Given the description of an element on the screen output the (x, y) to click on. 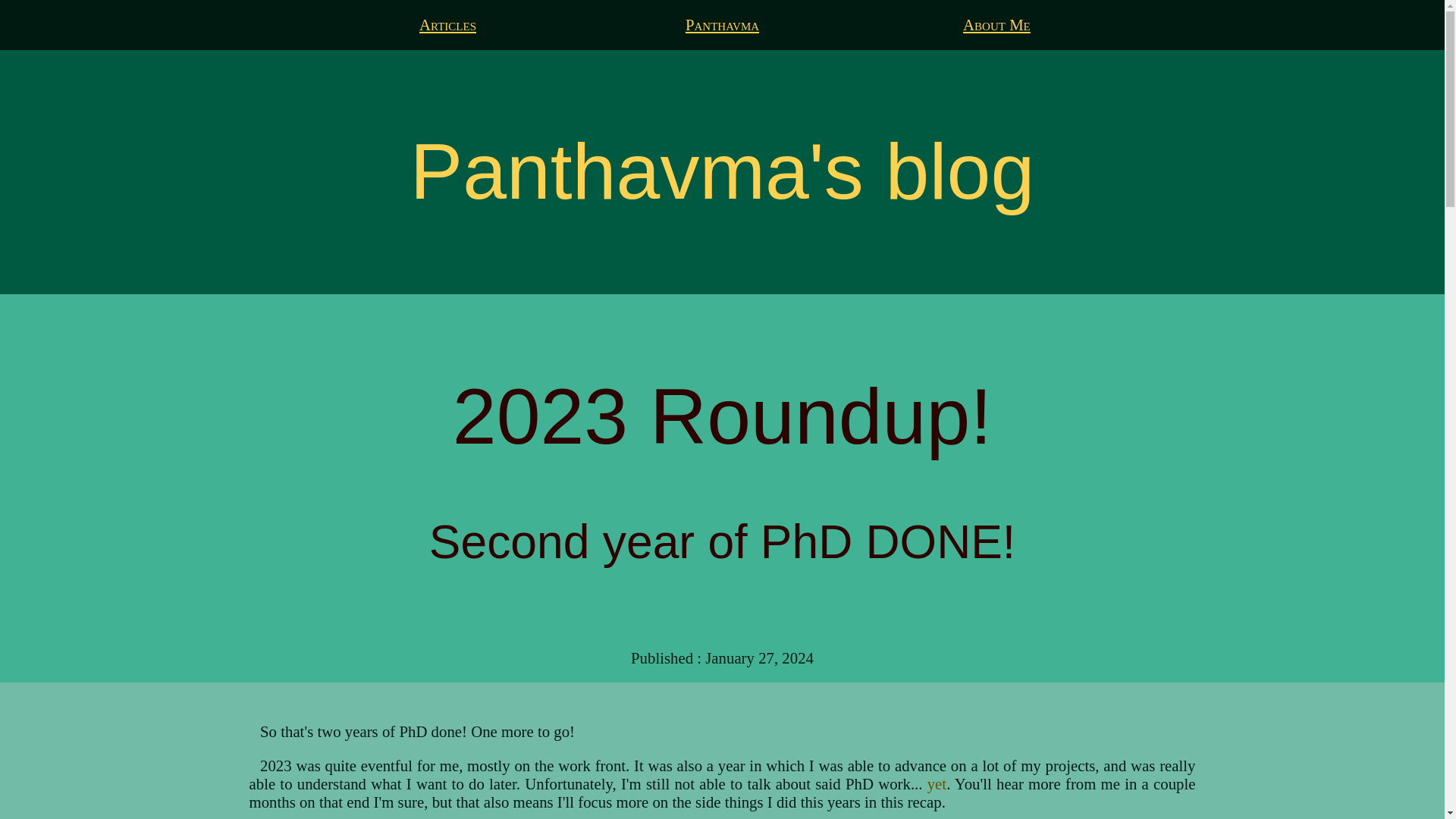
Panthavma (721, 24)
Articles (447, 24)
About Me (996, 24)
